Given the description of an element on the screen output the (x, y) to click on. 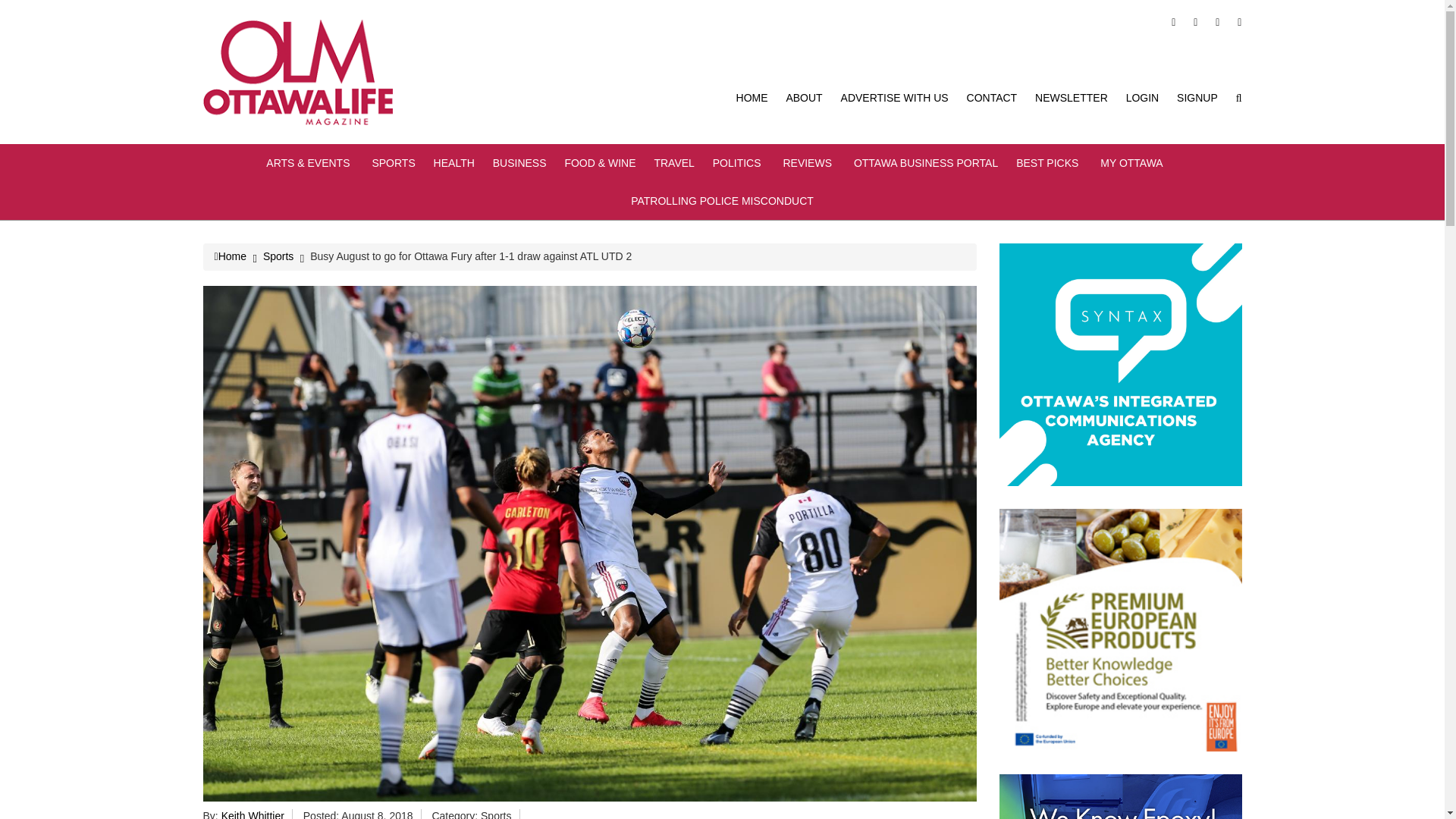
NEWSLETTER (1071, 97)
POLITICS (739, 162)
SPORTS (392, 162)
LOGIN (1141, 97)
CONTACT (991, 97)
HOME (752, 97)
ABOUT (804, 97)
REVIEWS (809, 162)
OTTAWA BUSINESS PORTAL (925, 162)
SIGNUP (1196, 97)
BEST PICKS (1048, 162)
TRAVEL (673, 162)
BUSINESS (520, 162)
HEALTH (453, 162)
ADVERTISE WITH US (895, 97)
